Given the description of an element on the screen output the (x, y) to click on. 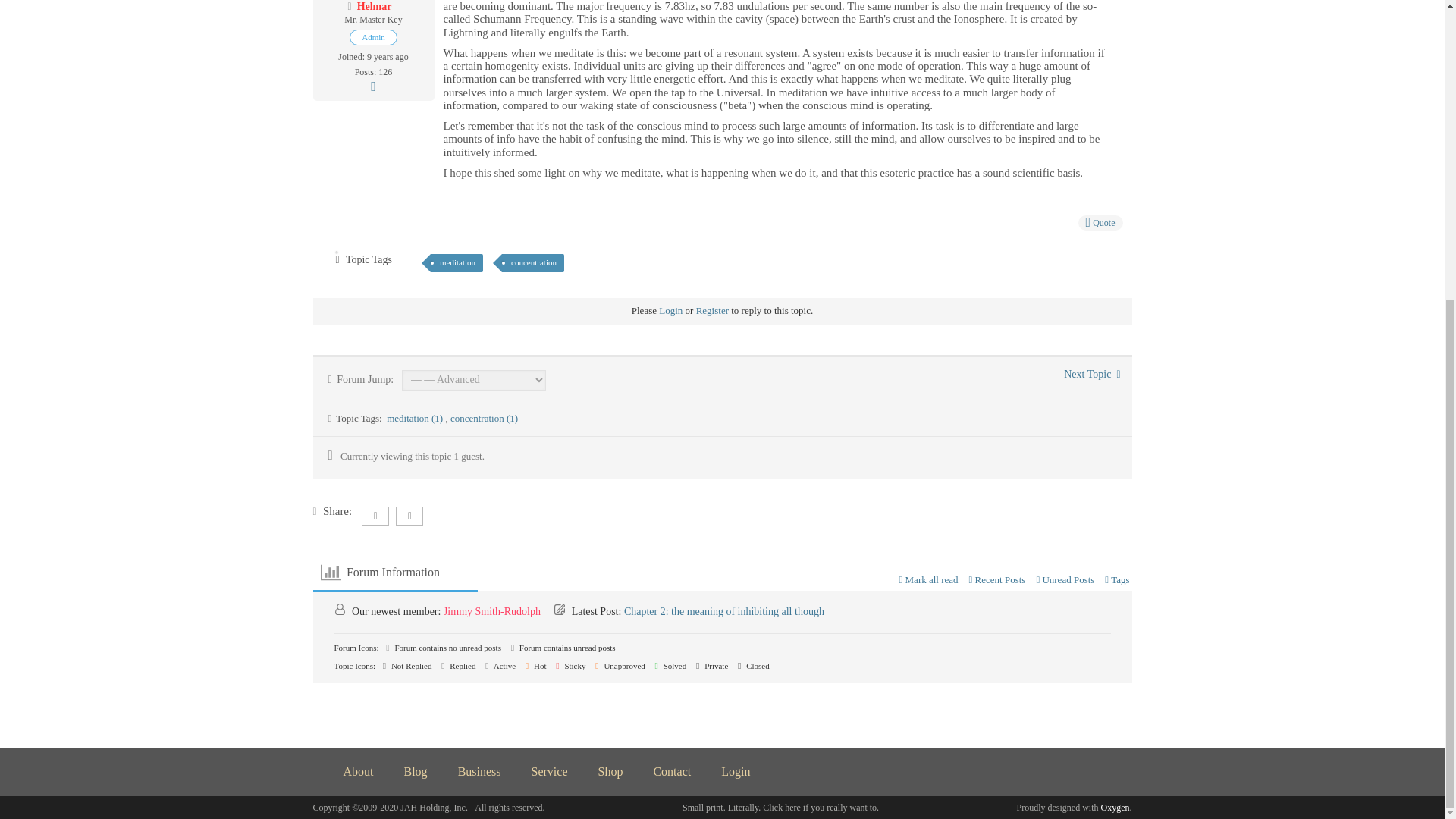
Helmar (373, 6)
Recent Posts (997, 579)
Jimmy Smith-Rudolph (492, 611)
Scientifically true ideals (1091, 374)
Next Topic   (1091, 374)
Usergroup (373, 37)
Login (670, 310)
meditation (456, 262)
Helmar (373, 6)
concentration (533, 262)
